Given the description of an element on the screen output the (x, y) to click on. 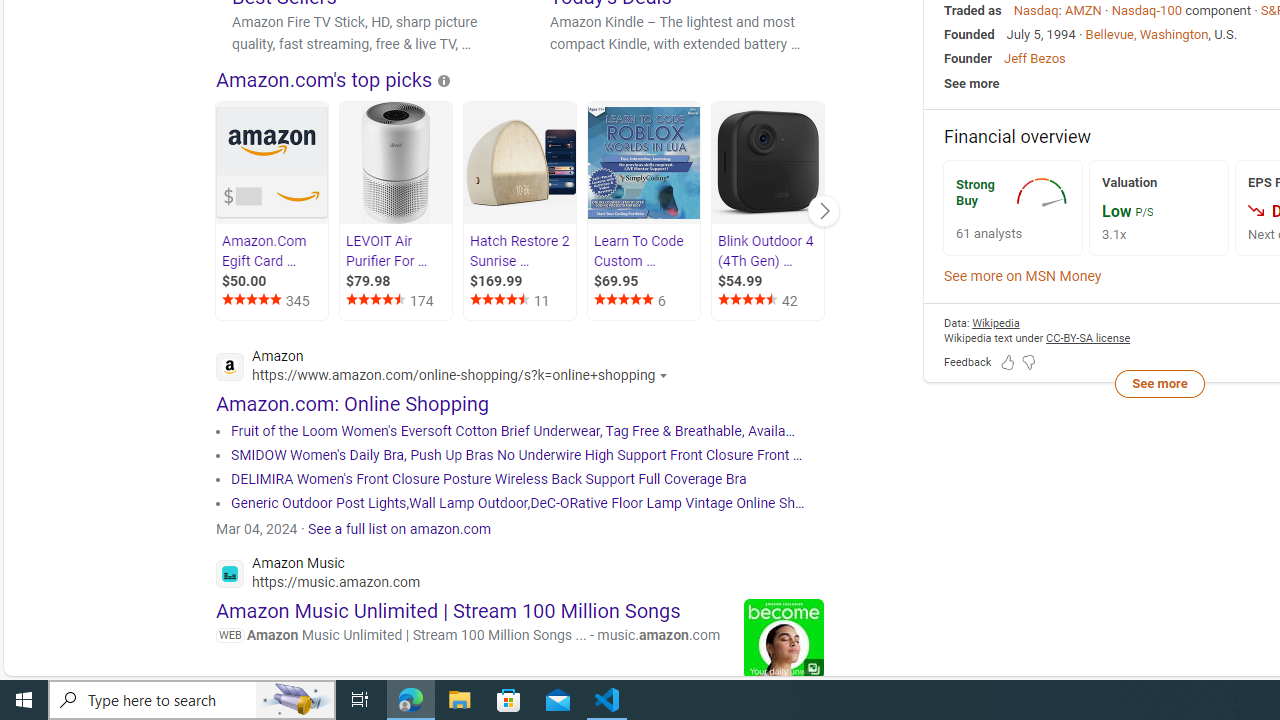
Amazon.com's top picks (324, 79)
Amazon (447, 368)
Click to scroll right (823, 209)
Amazon.Com Egift Card (Instant Email Or Text Delivery) (271, 164)
Amazon Music Unlimited | Stream 100 Million Songs (448, 610)
Nasdaq-100 (1146, 10)
6 (645, 300)
Bellevue, Washington (1147, 34)
